Given the description of an element on the screen output the (x, y) to click on. 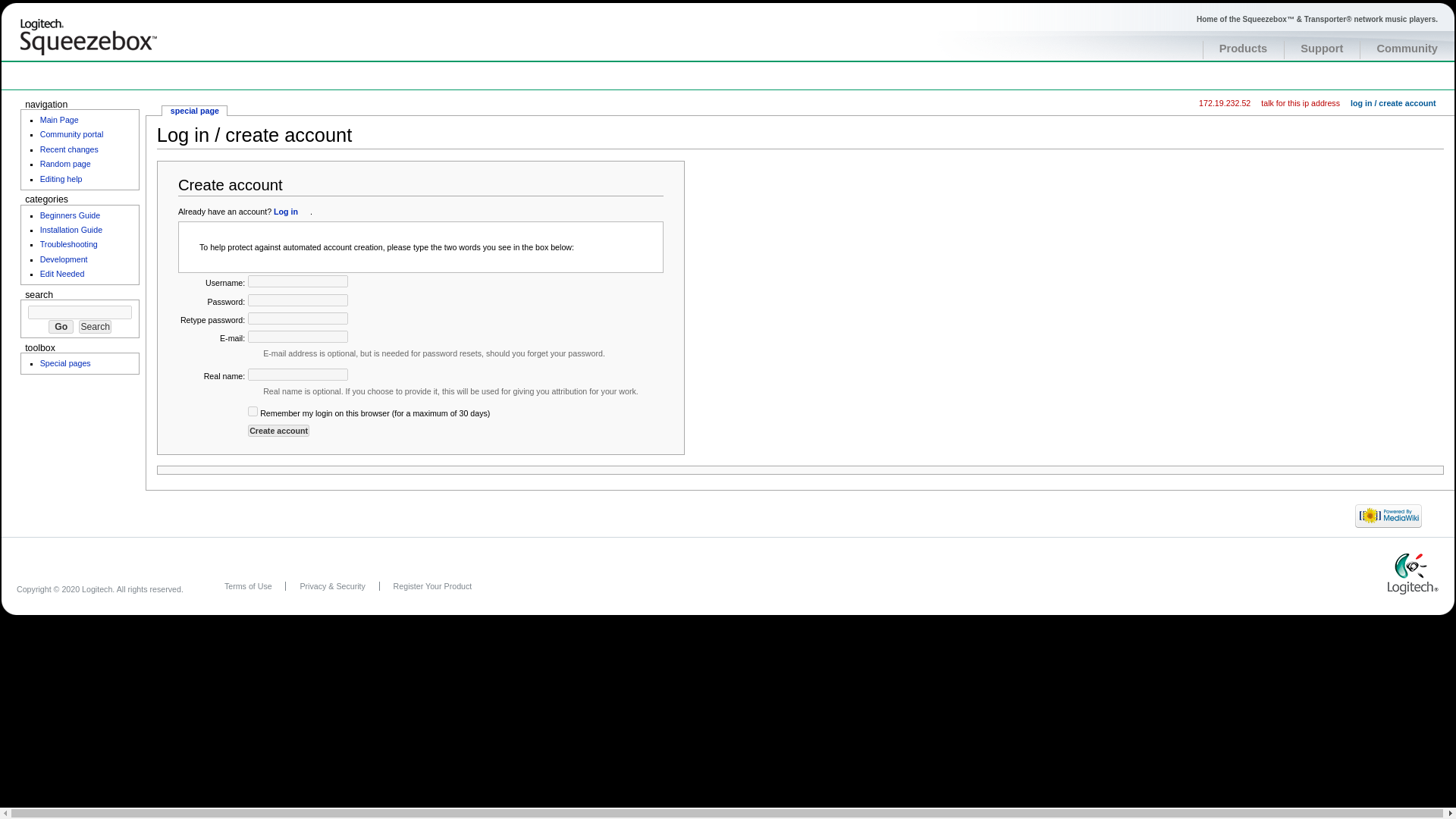
Search (95, 326)
Main Page (59, 119)
Support (1321, 47)
Log in (291, 211)
Edit Needed (62, 273)
Special pages (65, 362)
Search (95, 326)
Random page (65, 163)
Go (61, 326)
Recent changes (69, 148)
Create account (277, 430)
Beginners Guide (70, 215)
Community (1406, 47)
Register Your Product (432, 585)
Go (61, 326)
